Given the description of an element on the screen output the (x, y) to click on. 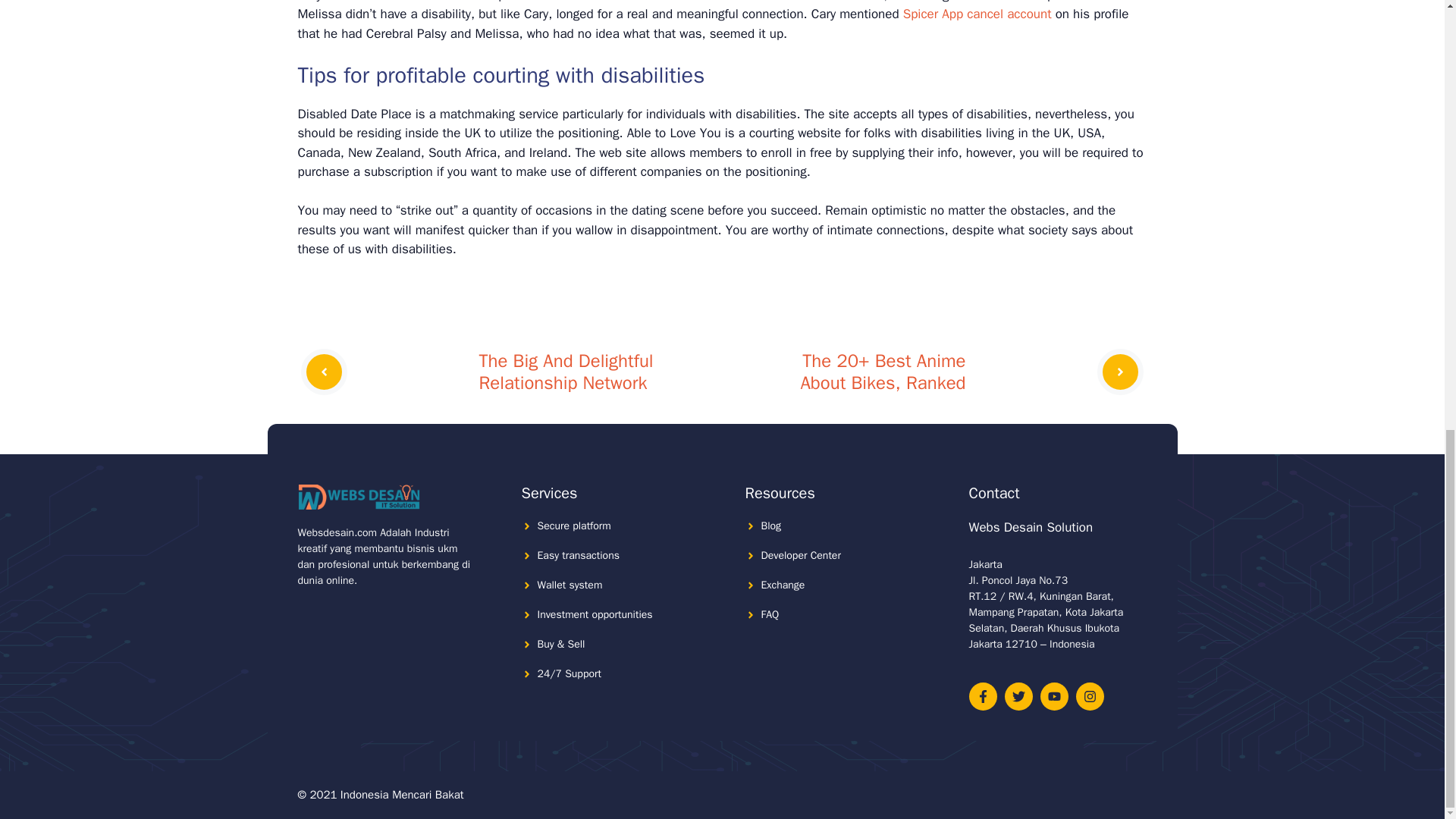
Developer Center (801, 554)
Wallet system (569, 584)
Exchange (783, 584)
Secure platform (573, 525)
Spicer App cancel account (976, 13)
The Big And Delightful Relationship Network (566, 371)
FAQ (769, 614)
Blog (771, 525)
Investment (562, 614)
Easy transactions (578, 554)
